Given the description of an element on the screen output the (x, y) to click on. 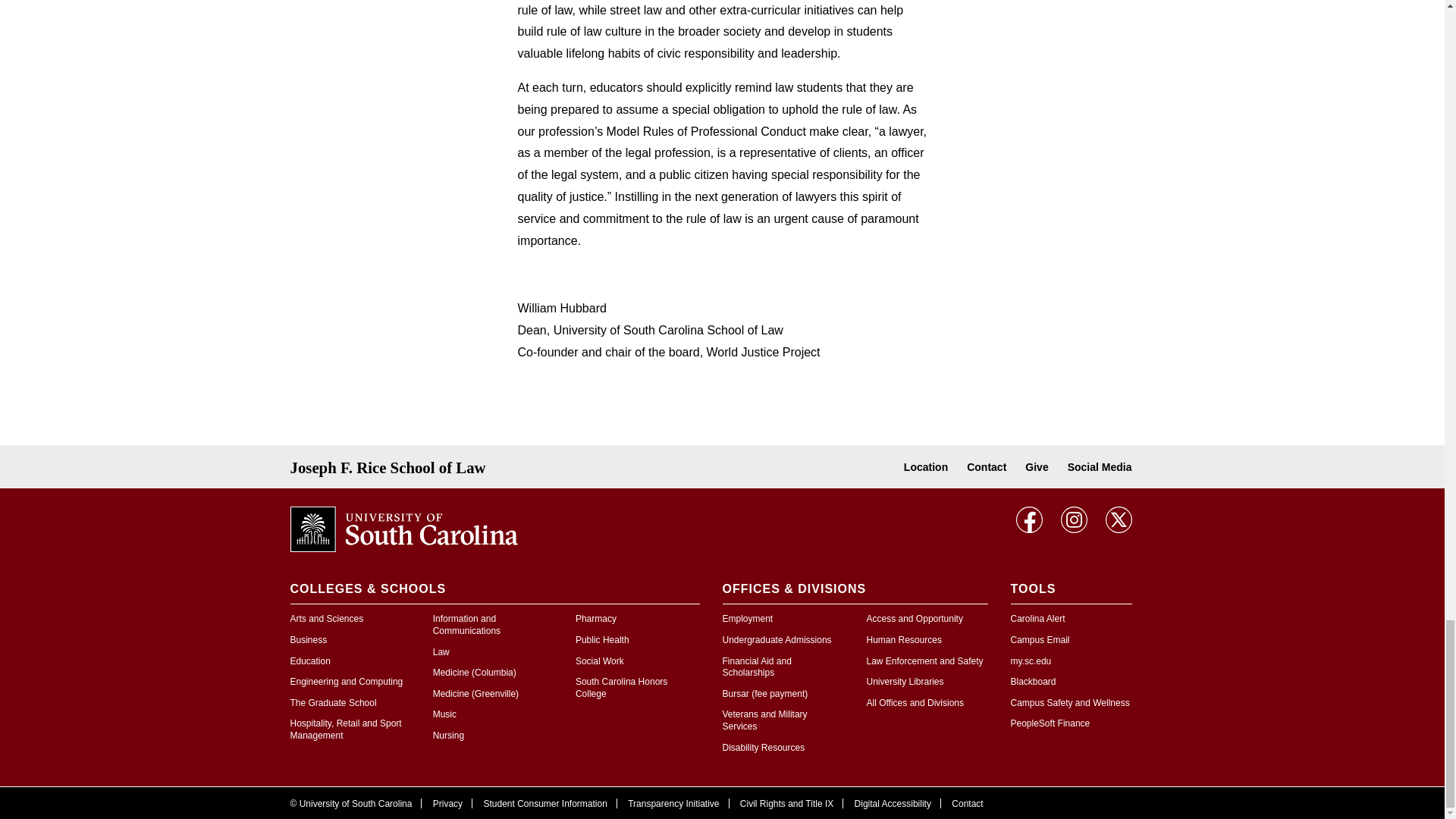
University of South Carolina (402, 527)
